Given the description of an element on the screen output the (x, y) to click on. 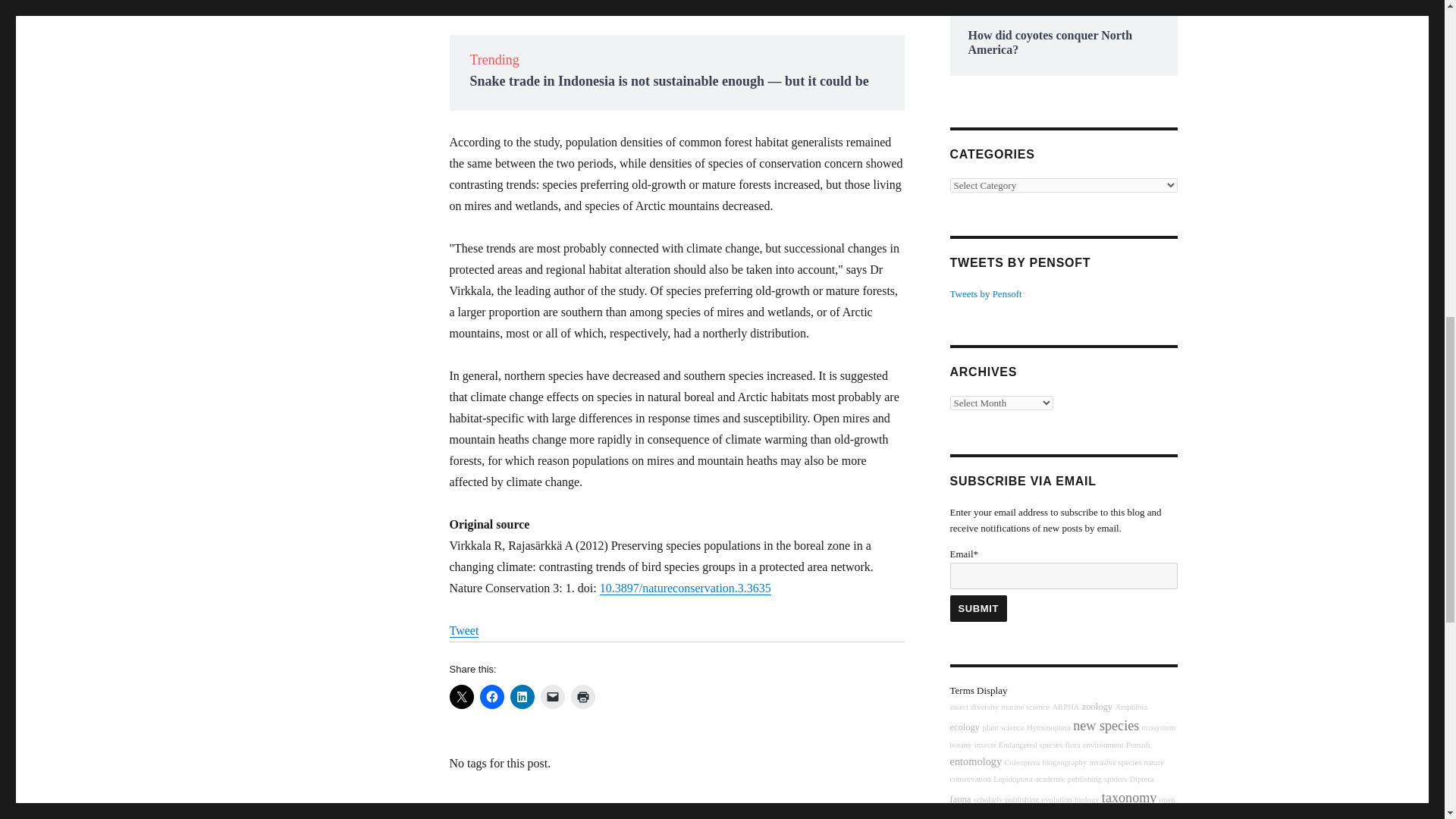
insect diversity (973, 706)
65 topics (1048, 727)
Amphibia (1131, 706)
new species (1105, 725)
Tweet (463, 630)
25 topics (1025, 706)
ARPHA (1064, 706)
Click to share on X (460, 696)
zoology (1096, 706)
marine science (1025, 706)
